Given the description of an element on the screen output the (x, y) to click on. 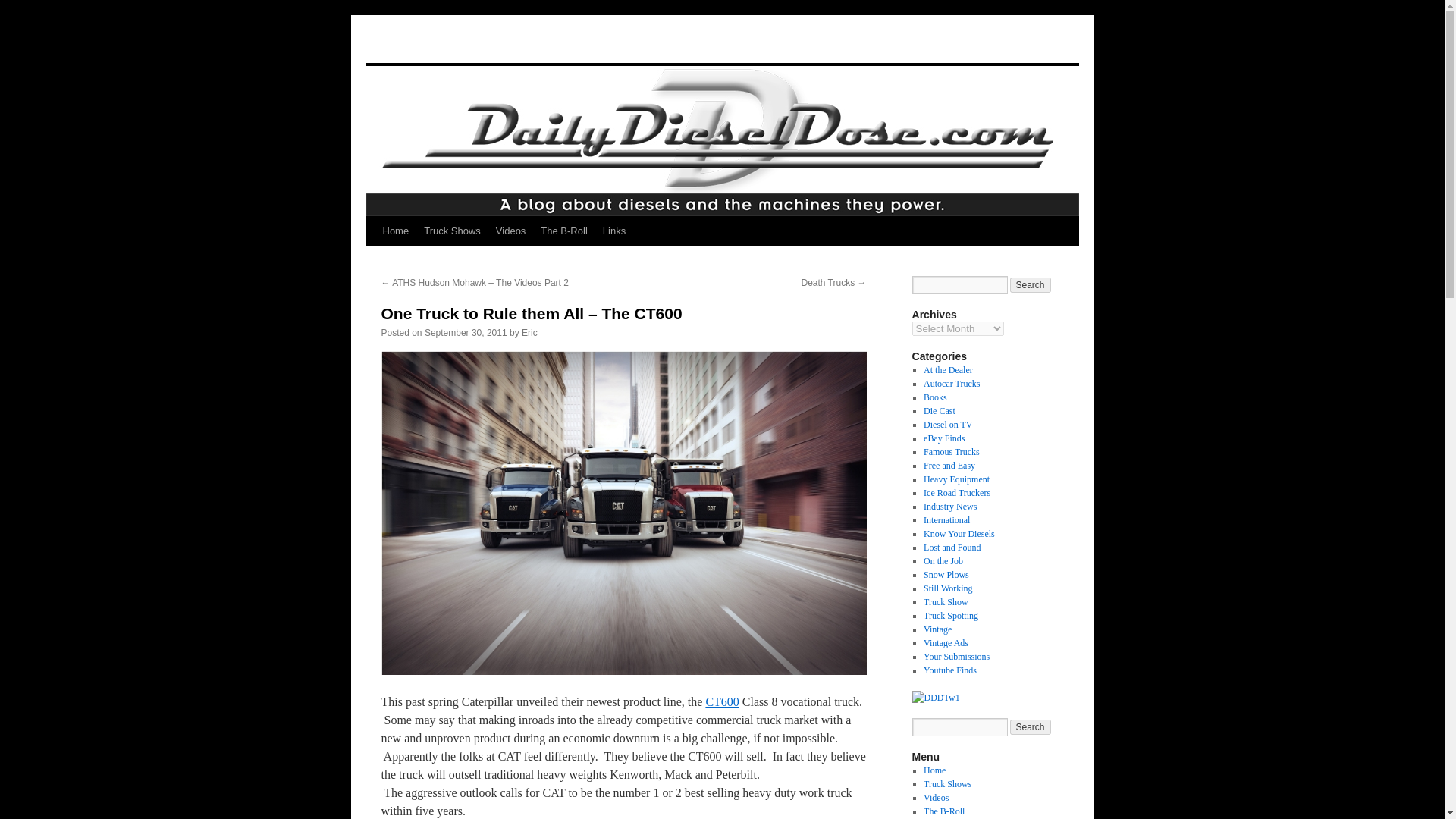
Search (1030, 284)
Free and Easy (949, 465)
September 30, 2011 (465, 332)
The B-Roll (563, 231)
CT600 (721, 701)
Videos (510, 231)
Diesel on TV (947, 424)
Books (935, 397)
9:30 am (465, 332)
Die Cast (939, 410)
View all posts by Eric (529, 332)
Search (1030, 284)
Autocar Trucks (951, 383)
Links (614, 231)
Famous Trucks (951, 451)
